Given the description of an element on the screen output the (x, y) to click on. 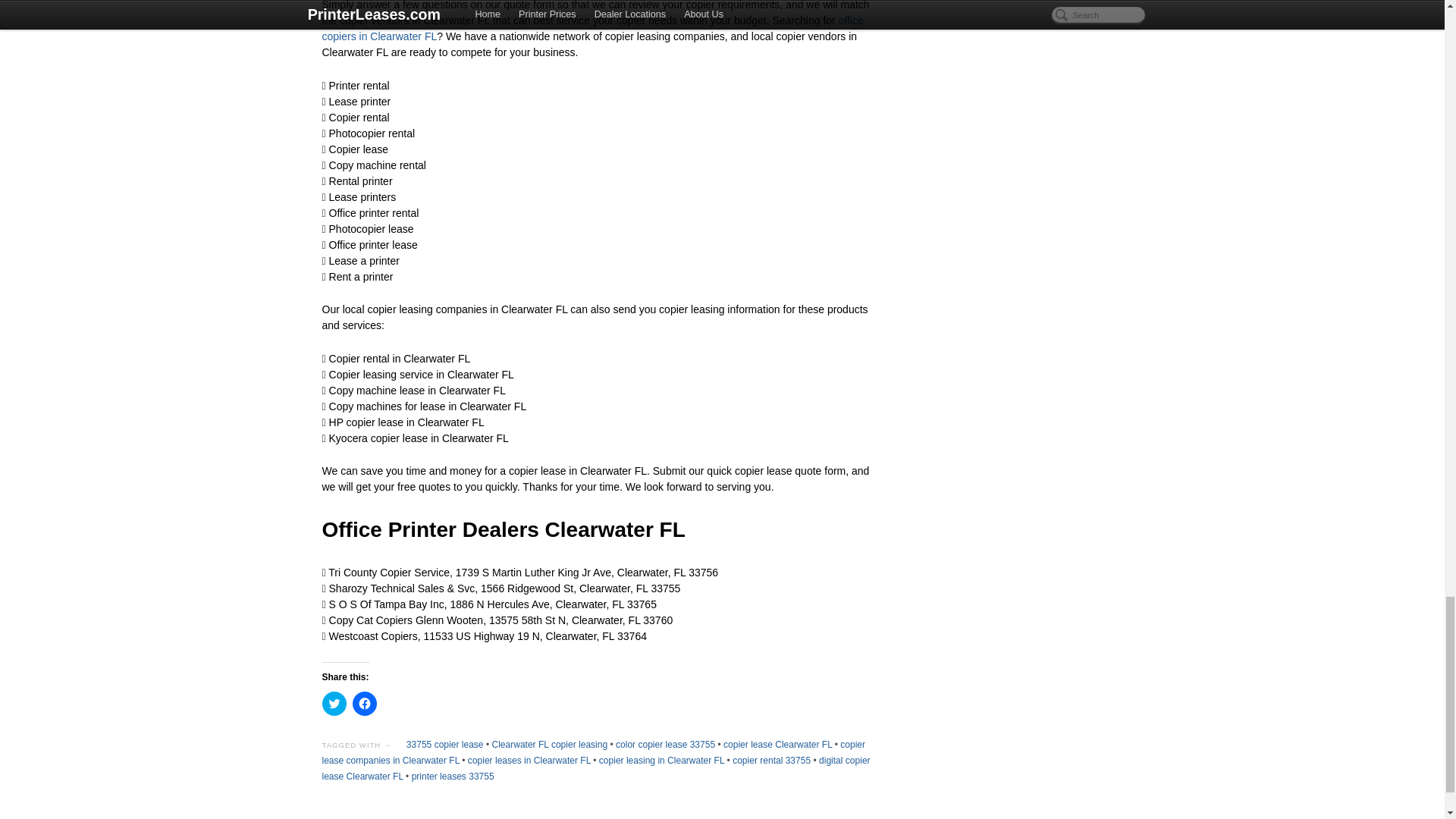
digital copier lease Clearwater FL (595, 768)
printer leases 33755 (453, 776)
copier lease Clearwater FL (777, 744)
office copiers in Clearwater FL (592, 28)
copier leasing in Clearwater FL (660, 760)
Clearwater FL copier leasing (549, 744)
copier leases in Clearwater FL (529, 760)
copier lease companies in Clearwater FL (592, 752)
Click to share on Twitter (333, 703)
color copier lease 33755 (664, 744)
